Given the description of an element on the screen output the (x, y) to click on. 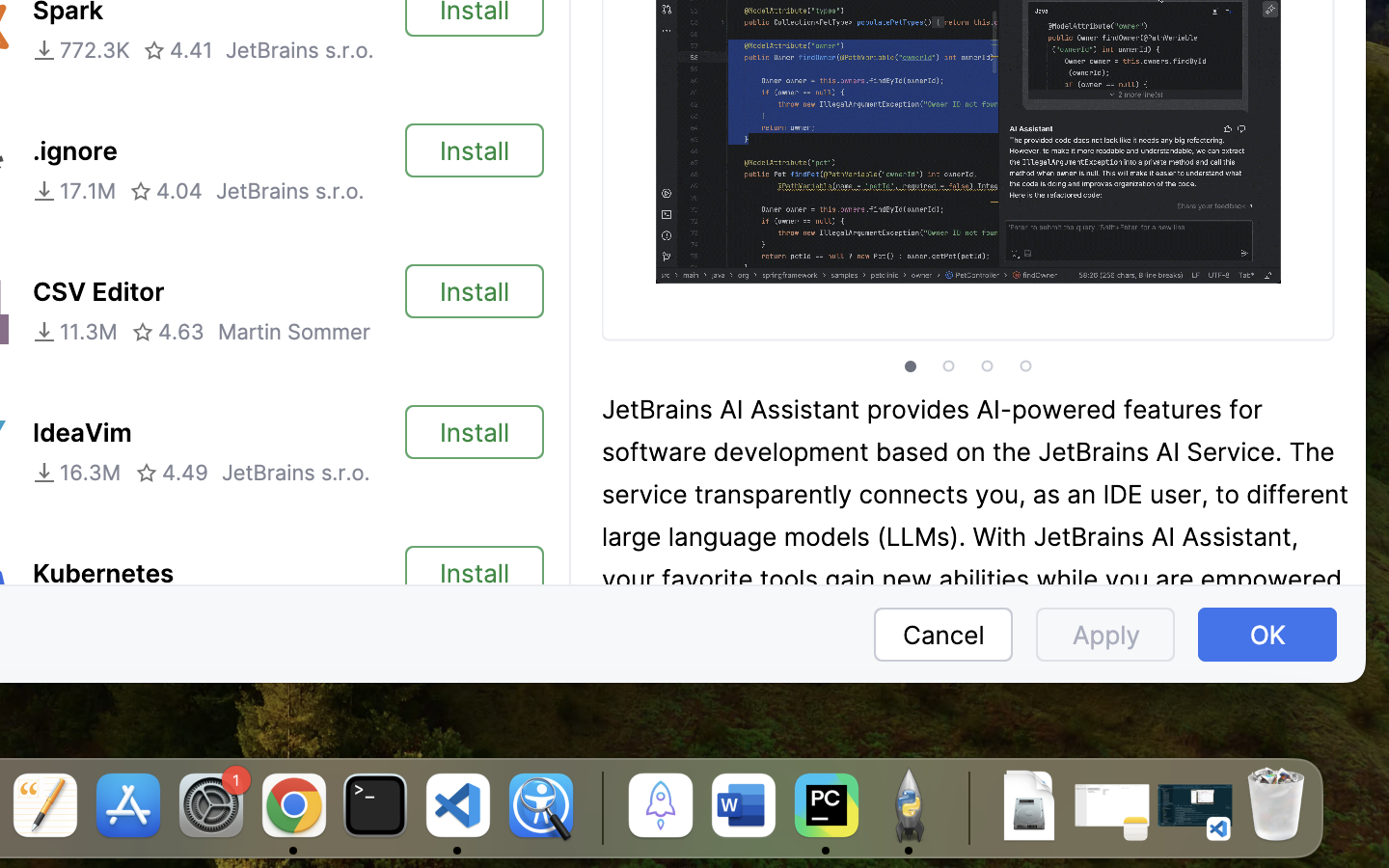
Martin Sommer Element type: AXStaticText (293, 331)
4.49 Element type: AXStaticText (171, 472)
IdeaVim Element type: AXStaticText (81, 432)
JetBrains s.r.o. Element type: AXStaticText (295, 472)
4.63 Element type: AXStaticText (167, 331)
